Given the description of an element on the screen output the (x, y) to click on. 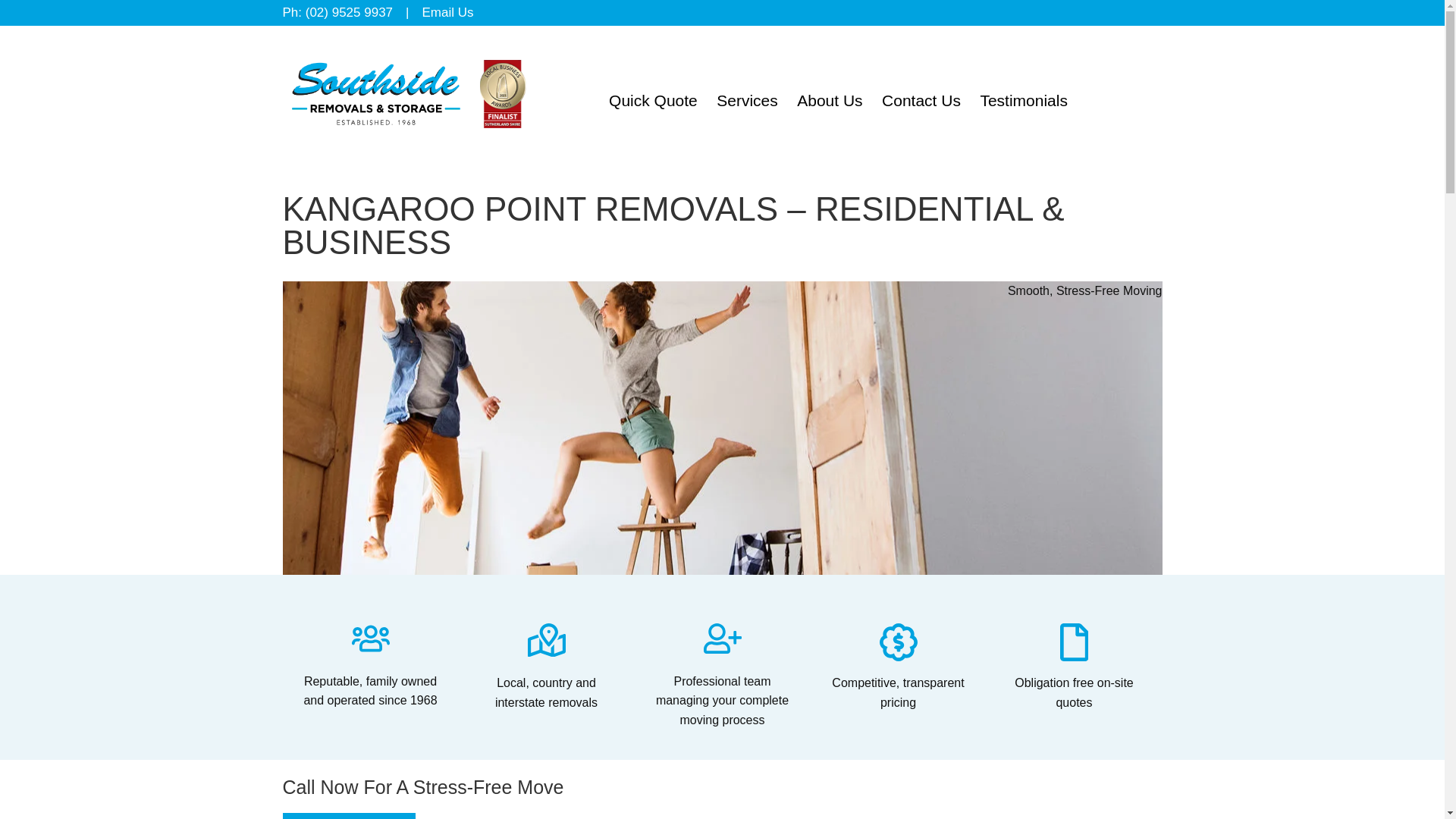
Contact us via email (447, 11)
Quick Quote (653, 100)
Contact Us (922, 100)
Testimonials (1023, 100)
About Us (829, 100)
Email Us (447, 11)
home (408, 147)
Services (747, 100)
